Given the description of an element on the screen output the (x, y) to click on. 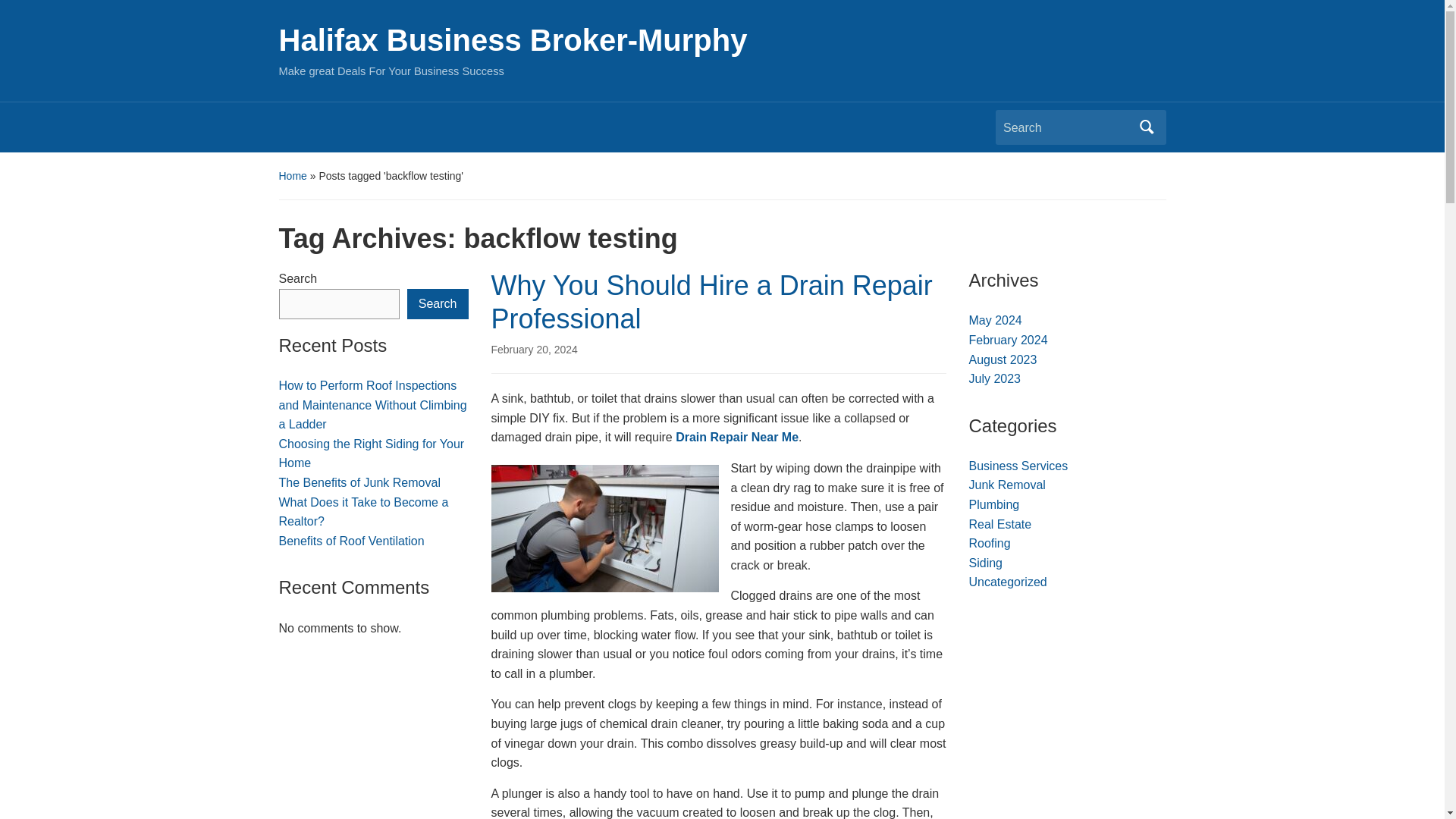
Junk Removal (1007, 484)
Business Services (1018, 465)
Real Estate (1000, 523)
February 2024 (1008, 339)
Home (293, 175)
February 20, 2024 (535, 349)
July 2023 (995, 378)
Uncategorized (1007, 581)
Why You Should Hire a Drain Repair Professional (712, 301)
What Does it Take to Become a Realtor? (363, 512)
The Benefits of Junk Removal (360, 481)
Benefits of Roof Ventilation (352, 540)
May 2024 (995, 319)
